Given the description of an element on the screen output the (x, y) to click on. 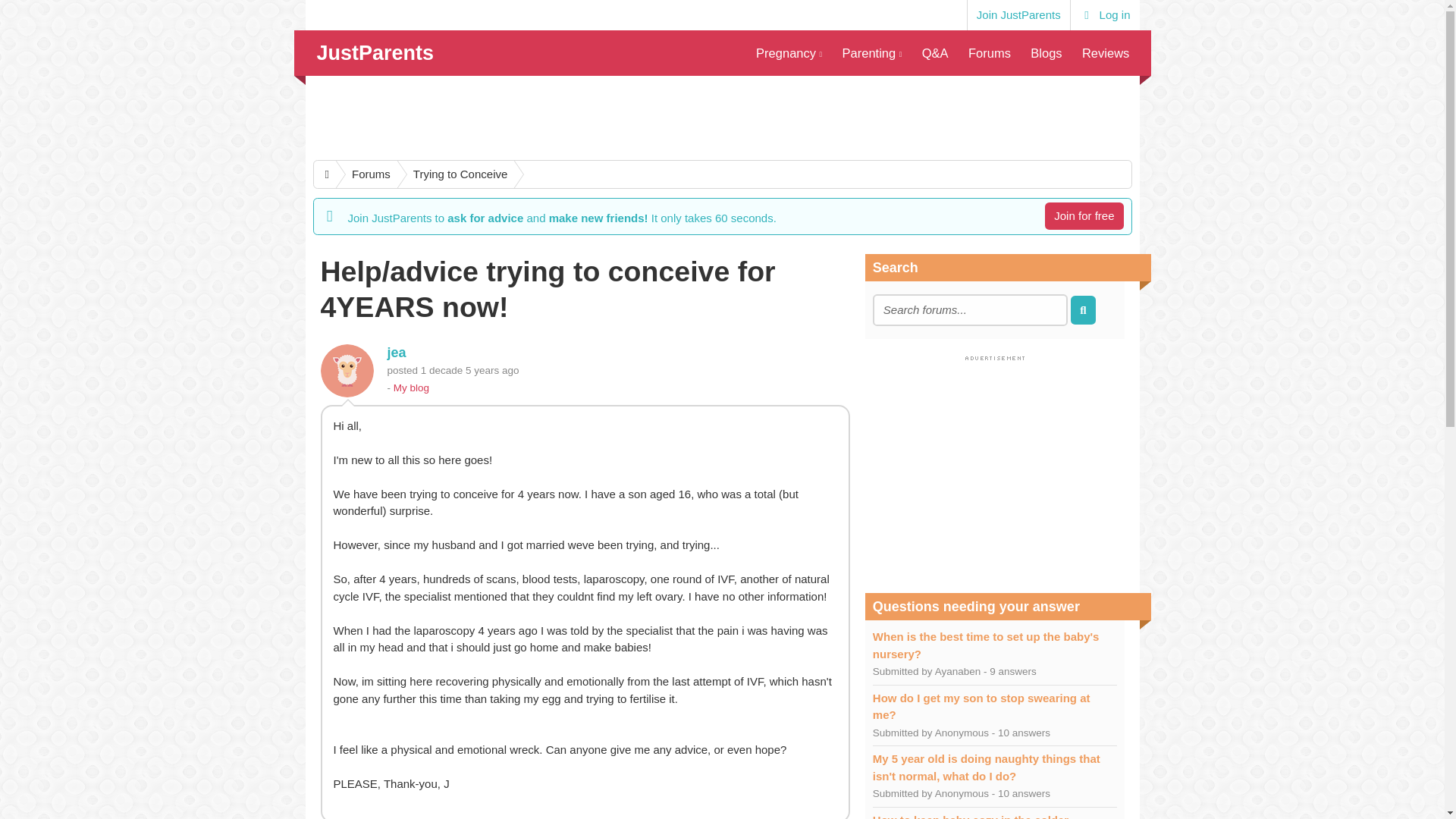
Join for free (1083, 215)
Blogs (1045, 53)
Trying to Conceive (453, 174)
Advertisement (994, 469)
jea (396, 352)
How to keep baby cozy in the colder weather? (970, 816)
jea (346, 370)
Log in (1105, 15)
Forums (989, 53)
